Given the description of an element on the screen output the (x, y) to click on. 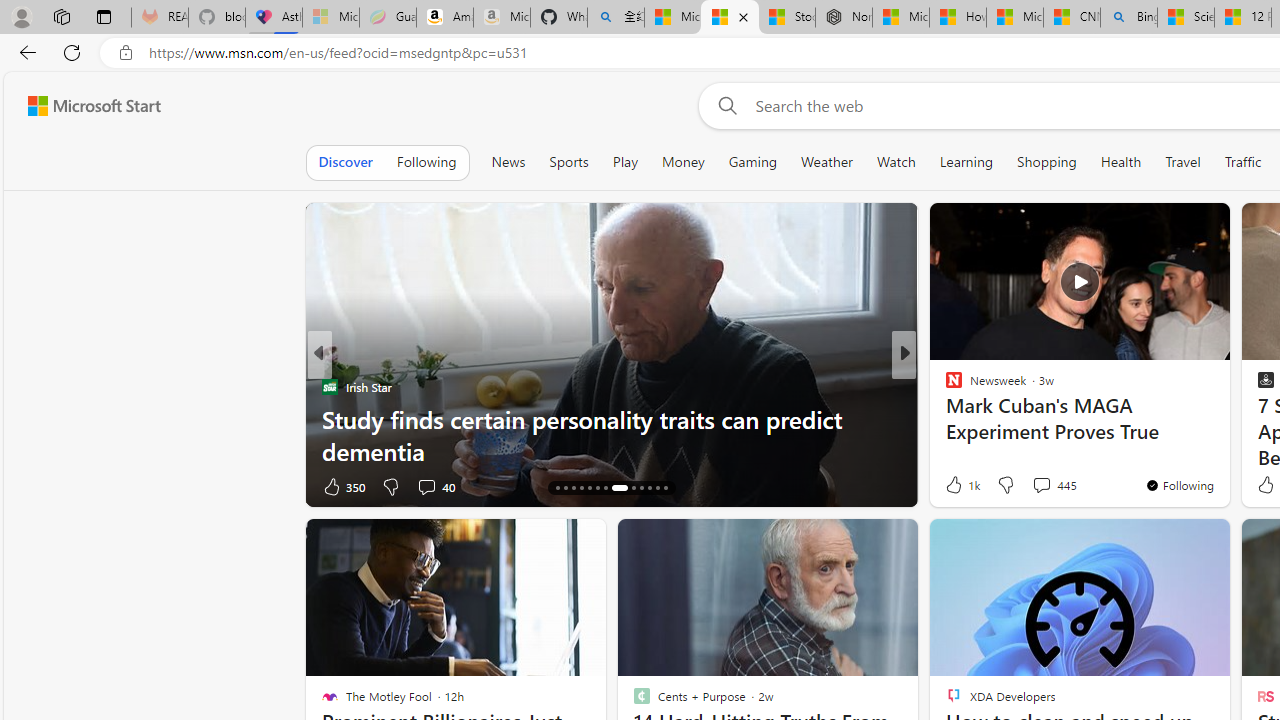
View comments 34 Comment (1044, 486)
109 Like (959, 486)
View comments 40 Comment (435, 486)
AutomationID: tab-17 (581, 487)
AutomationID: tab-20 (605, 487)
